Given the description of an element on the screen output the (x, y) to click on. 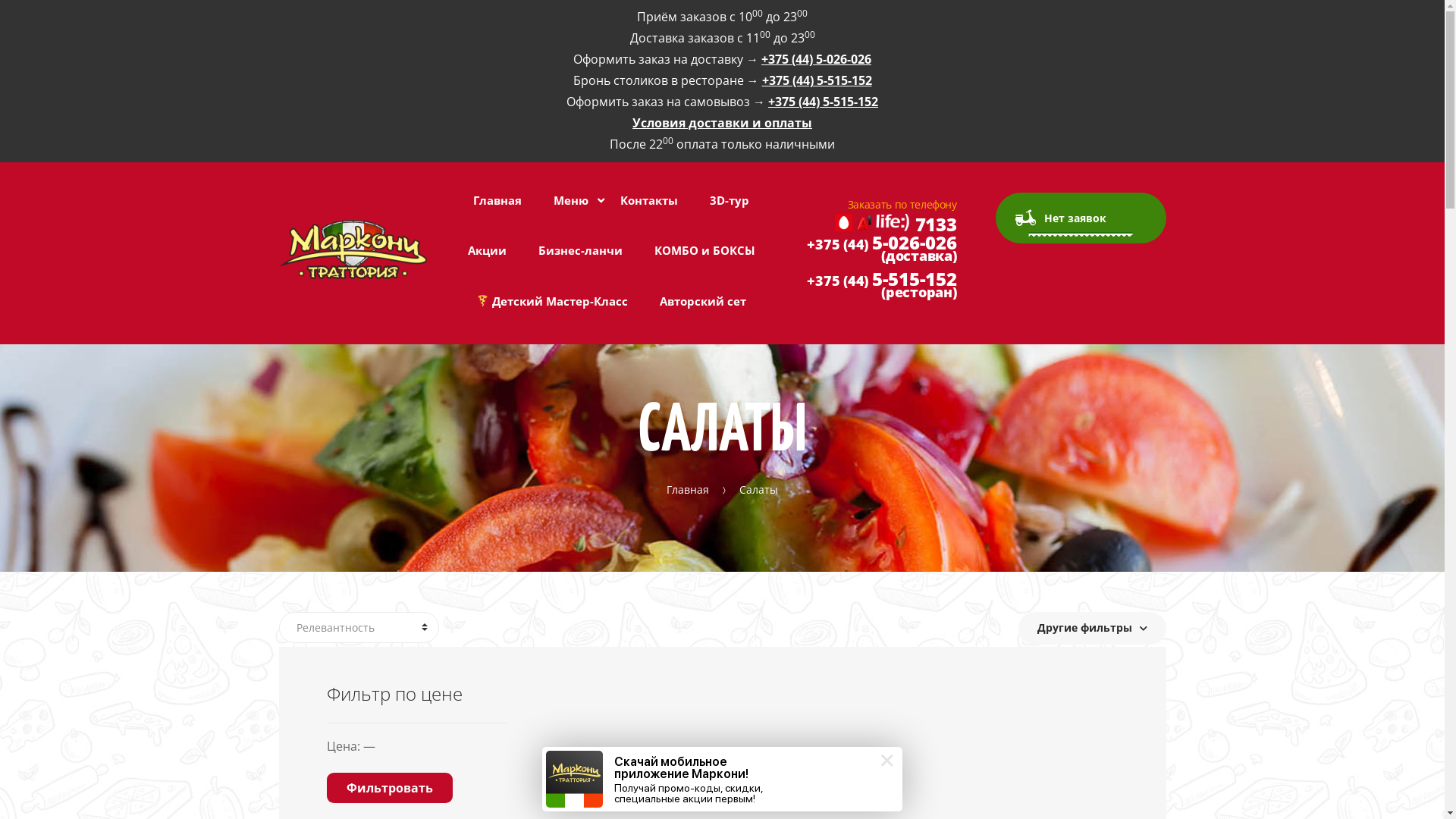
+375 (44) 5-026-026 Element type: text (816, 58)
+375 (44) 5-515-152 Element type: text (816, 80)
+375 (44) 5-515-152 Element type: text (823, 101)
